Given the description of an element on the screen output the (x, y) to click on. 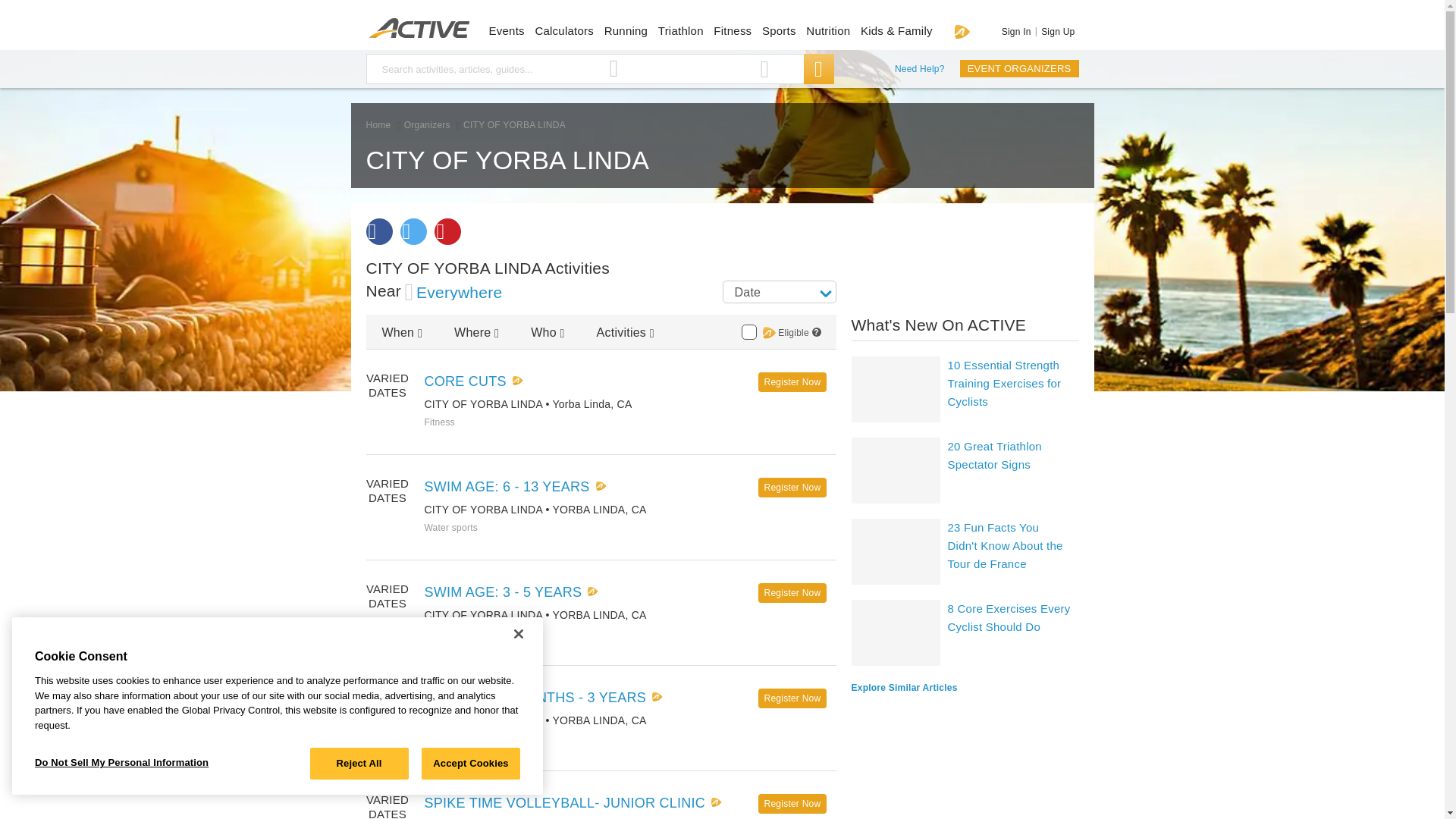
Share on Facebook (378, 231)
Go Premium (961, 31)
Share on Pinterest (446, 231)
Share on Twitter (413, 231)
